Given the description of an element on the screen output the (x, y) to click on. 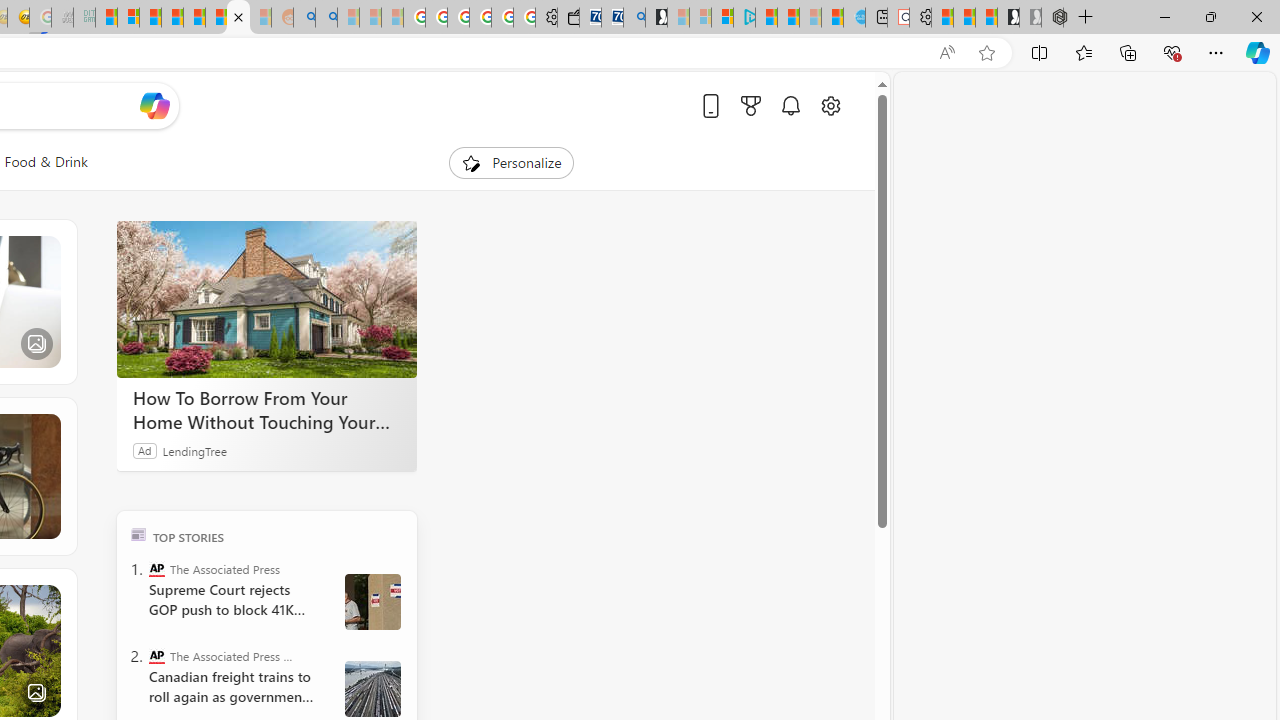
The Associated Press (156, 568)
Utah sues federal government - Search (326, 17)
How To Borrow From Your Home Without Touching Your Mortgage (266, 409)
Kinda Frugal - MSN (238, 17)
LendingTree (194, 450)
Open Copilot (155, 105)
MSNBC - MSN (106, 17)
